Given the description of an element on the screen output the (x, y) to click on. 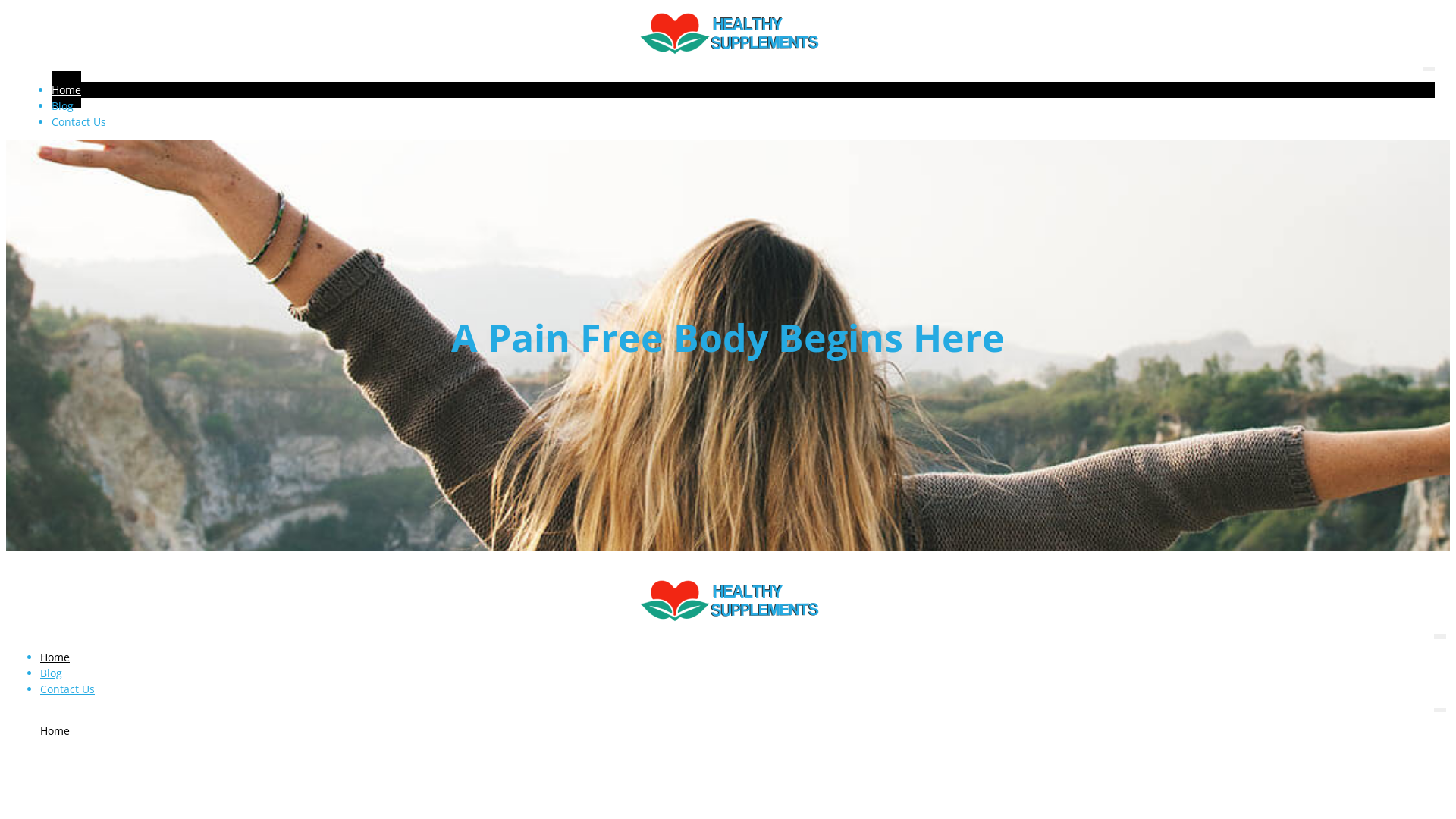
Contact Us Element type: text (67, 762)
Home Element type: text (66, 89)
Blog Element type: text (51, 746)
Home Element type: text (54, 730)
Healthy Supplements Element type: hover (727, 34)
Toggle navigation Element type: text (1428, 68)
Healthy Supplements Element type: hover (727, 601)
Toggle navigation Element type: text (1440, 709)
Contact Us Element type: text (67, 688)
Contact Us Element type: text (78, 121)
Toggle navigation Element type: text (1440, 635)
Blog Element type: text (51, 672)
Blog Element type: text (62, 105)
Home Element type: text (54, 656)
